Given the description of an element on the screen output the (x, y) to click on. 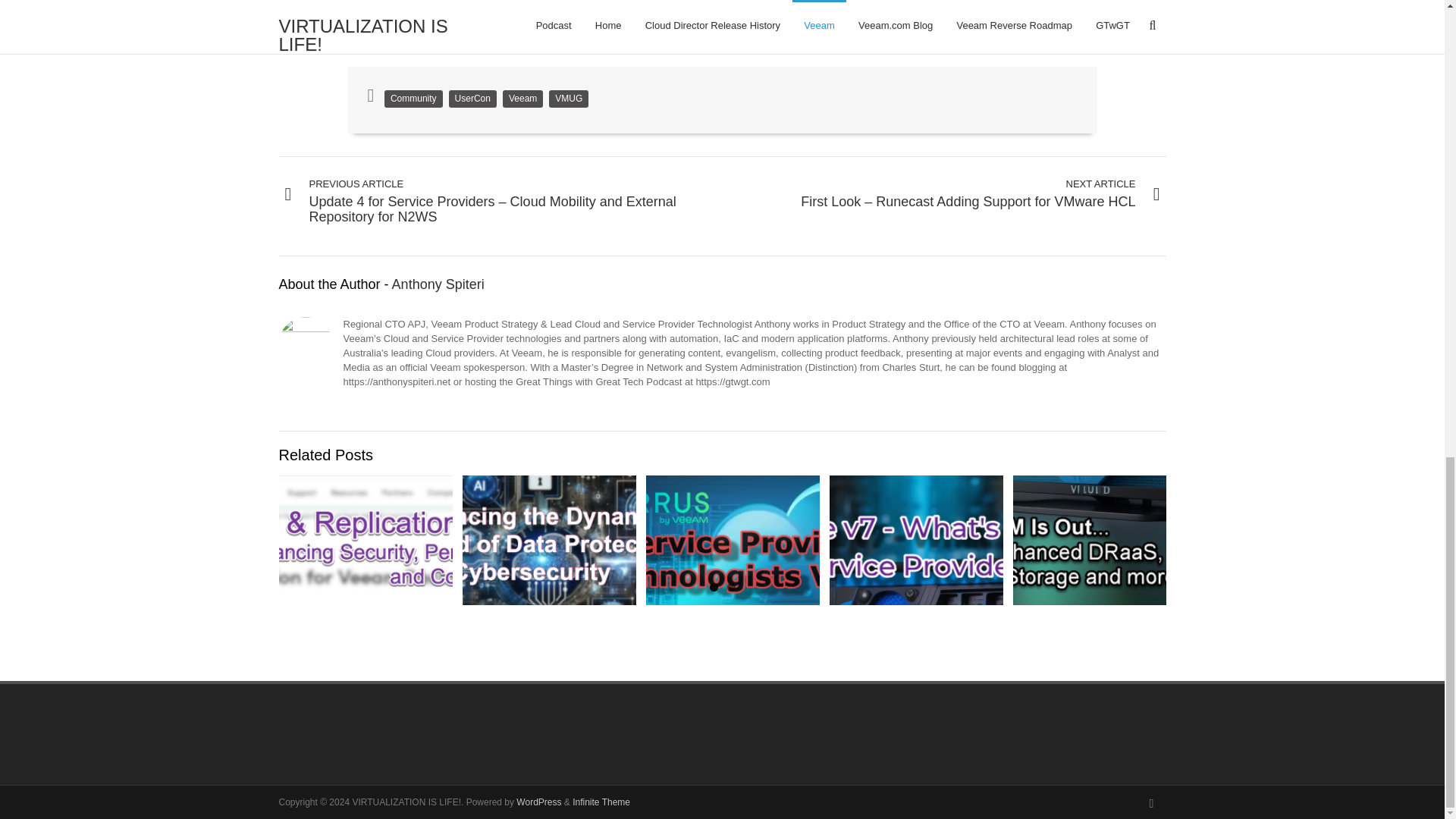
Posts by Anthony Spiteri (437, 283)
WordPress (538, 801)
Infinite Theme (601, 801)
